Given the description of an element on the screen output the (x, y) to click on. 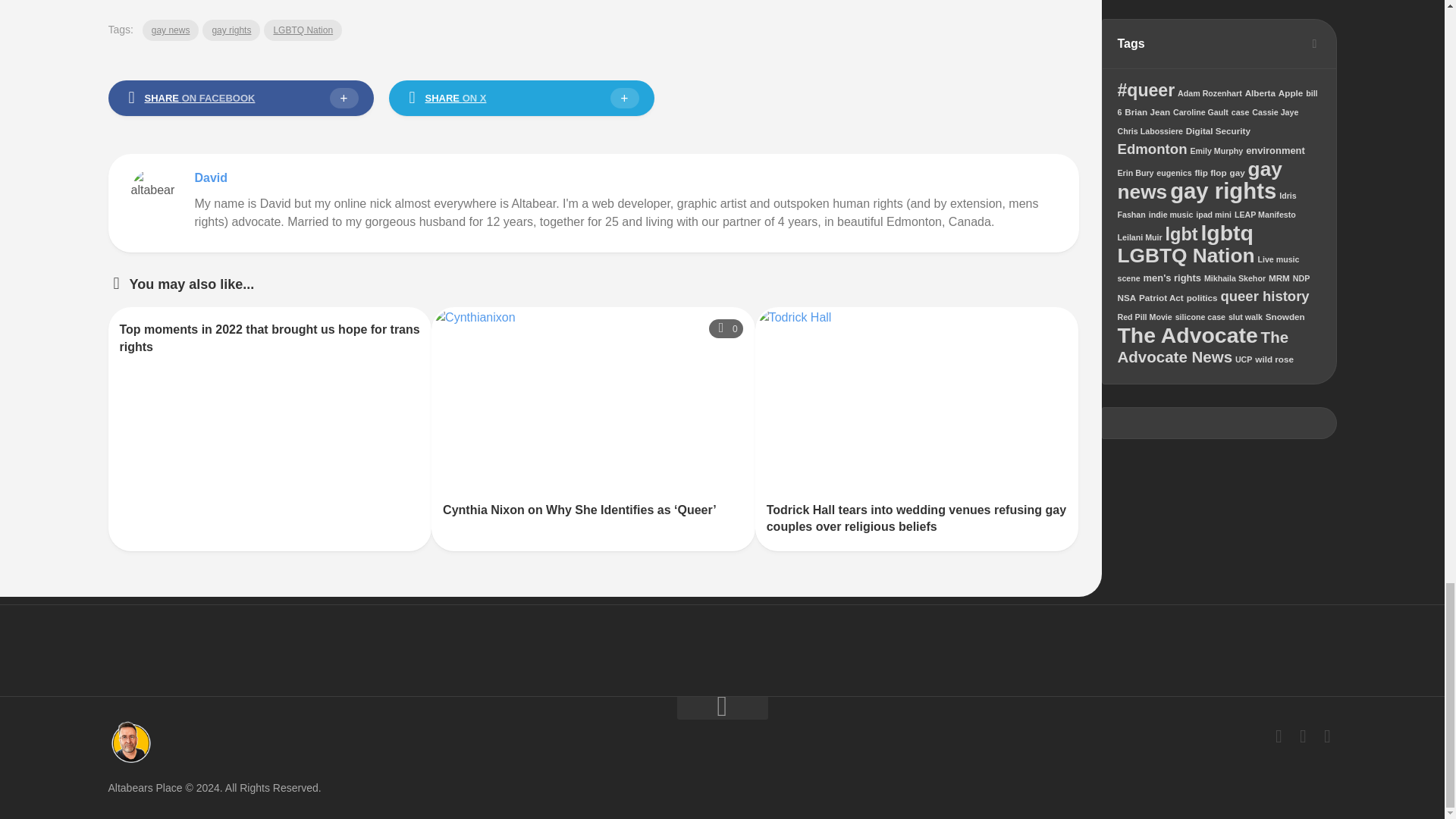
Facebook (1278, 736)
Instagram (1326, 736)
Twitter (1302, 736)
Posts by David (210, 177)
